Given the description of an element on the screen output the (x, y) to click on. 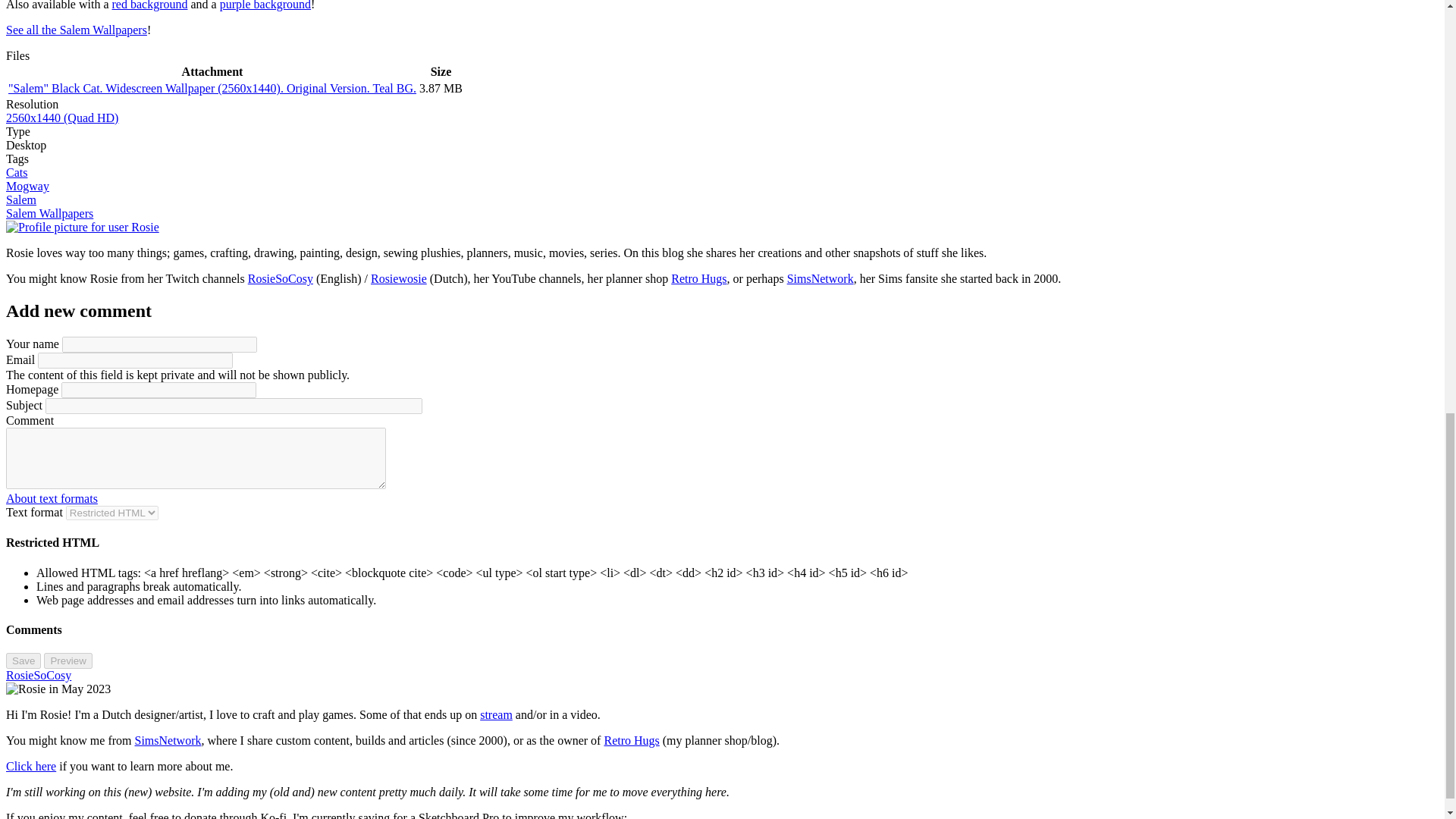
wallpaper-salem-original-wide-teal.zip (212, 88)
red background (149, 5)
Preview (67, 660)
purple background (265, 5)
Save (22, 660)
